Given the description of an element on the screen output the (x, y) to click on. 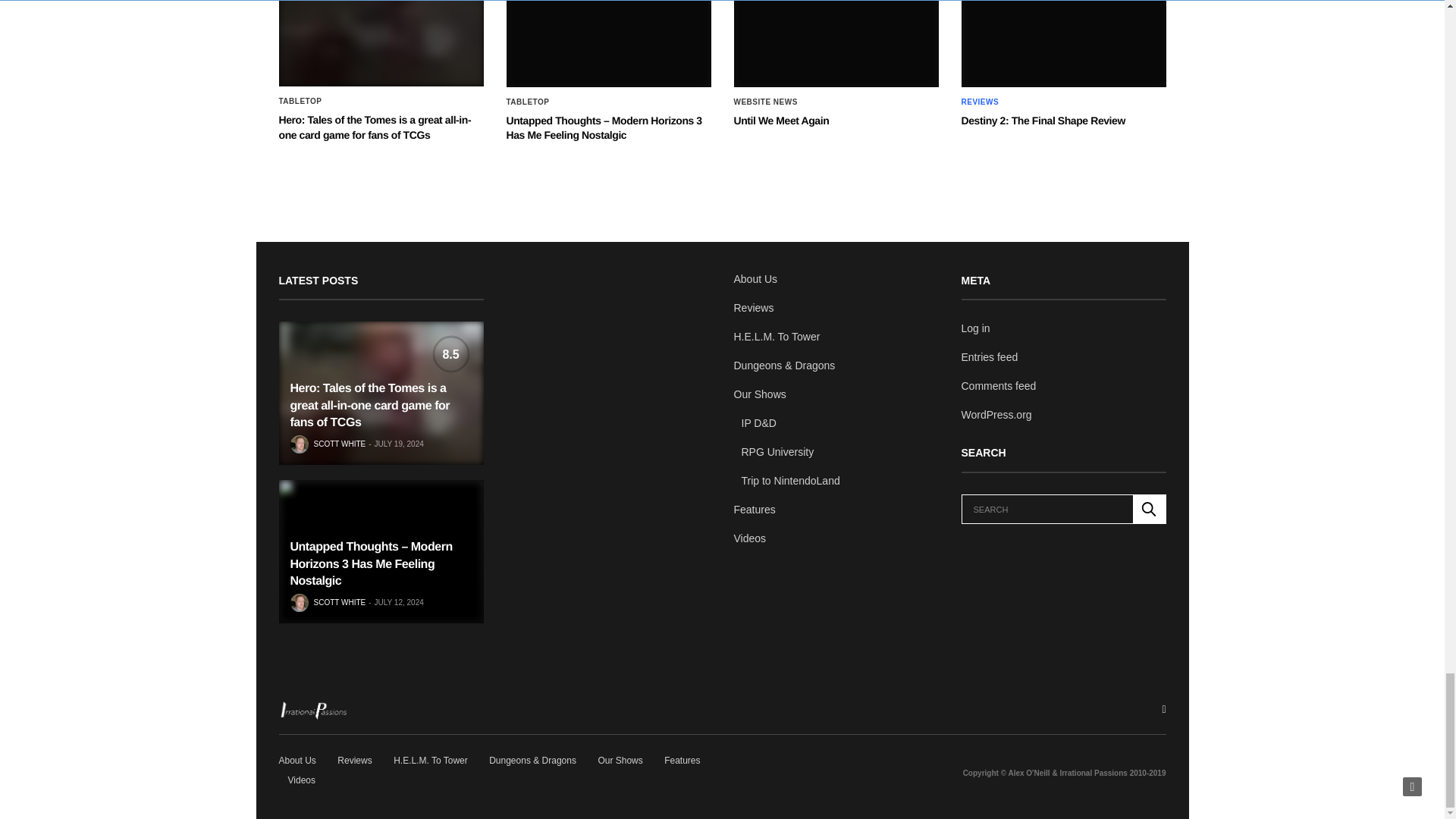
Search (1149, 509)
